Given the description of an element on the screen output the (x, y) to click on. 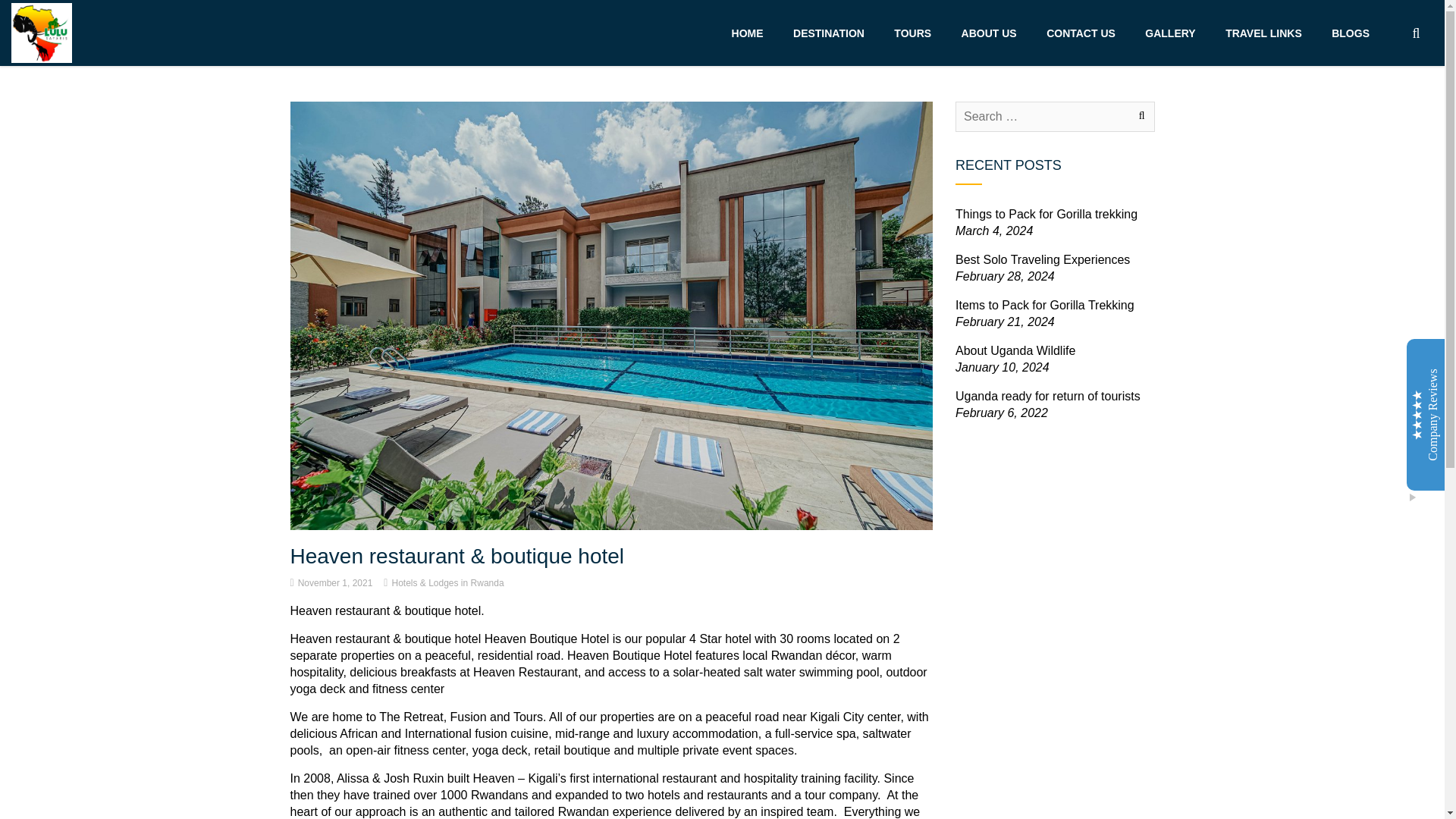
CONTACT US (1080, 32)
TRAVEL LINKS (1263, 32)
ABOUT US (988, 32)
Heaven Boutique Hotel (630, 655)
GALLERY (1169, 32)
Heaven Restaurant (525, 671)
DESTINATION (828, 32)
